Given the description of an element on the screen output the (x, y) to click on. 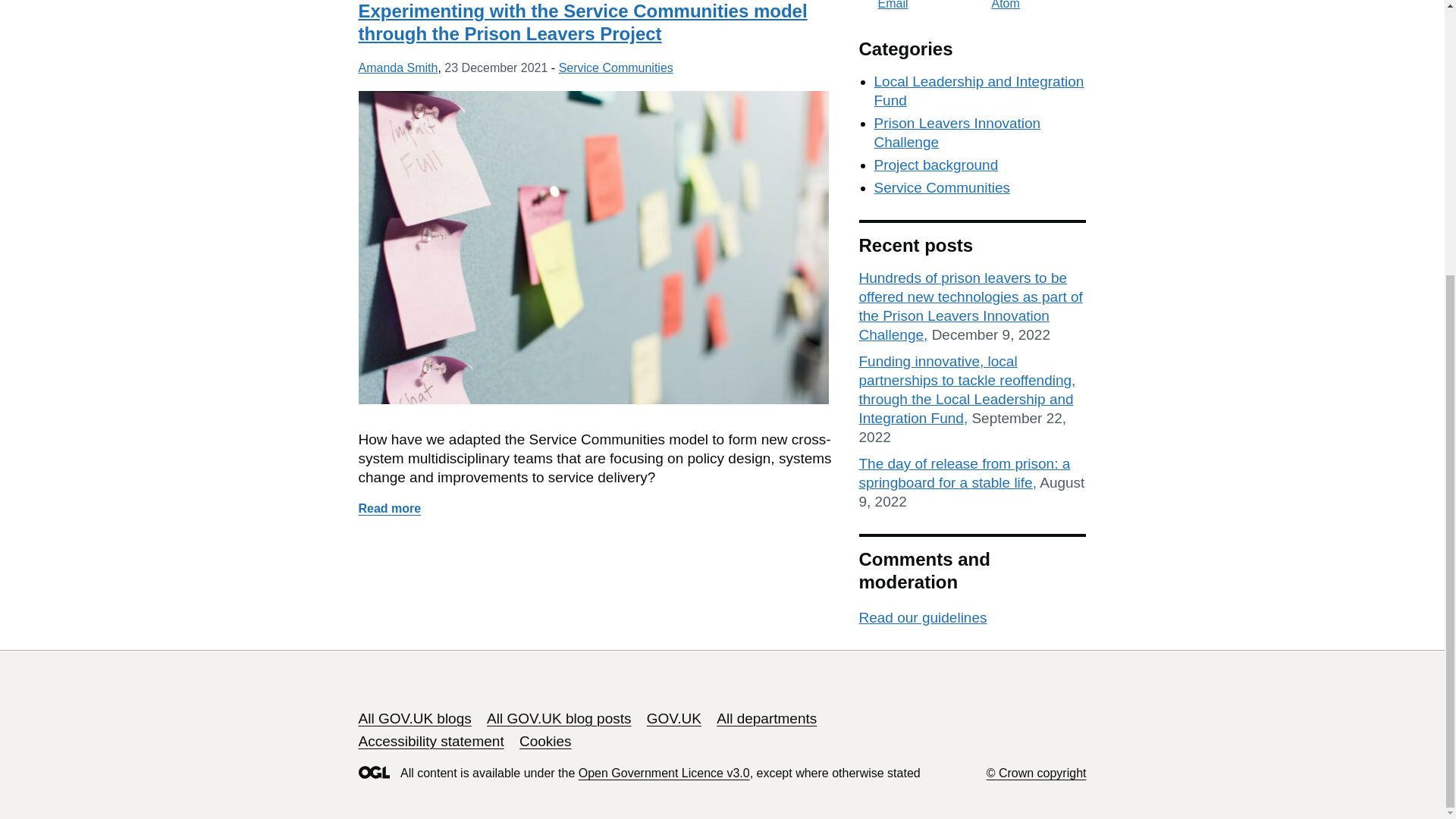
Prison Leavers Innovation Challenge (957, 132)
Project background (935, 164)
Service Communities (615, 67)
Accessibility statement (430, 741)
Cookies (545, 741)
Read our guidelines (923, 617)
Email (883, 4)
Amanda Smith (398, 67)
All GOV.UK blogs (414, 718)
All GOV.UK blog posts (558, 718)
All departments (766, 718)
Open Government Licence v3.0 (663, 772)
Service Communities (941, 187)
